Given the description of an element on the screen output the (x, y) to click on. 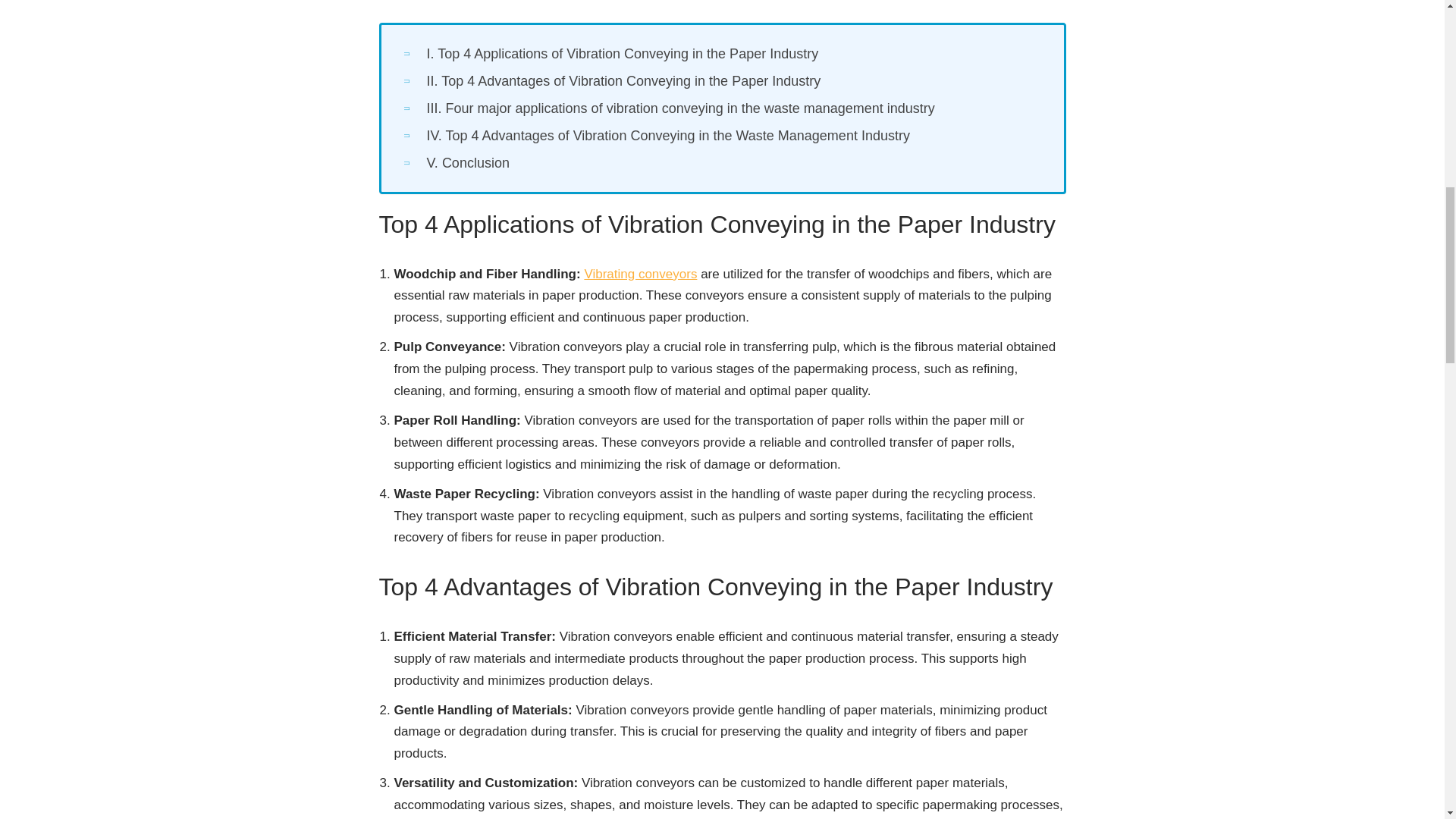
Vibrating conveyor (640, 273)
Conclusion (467, 162)
